Given the description of an element on the screen output the (x, y) to click on. 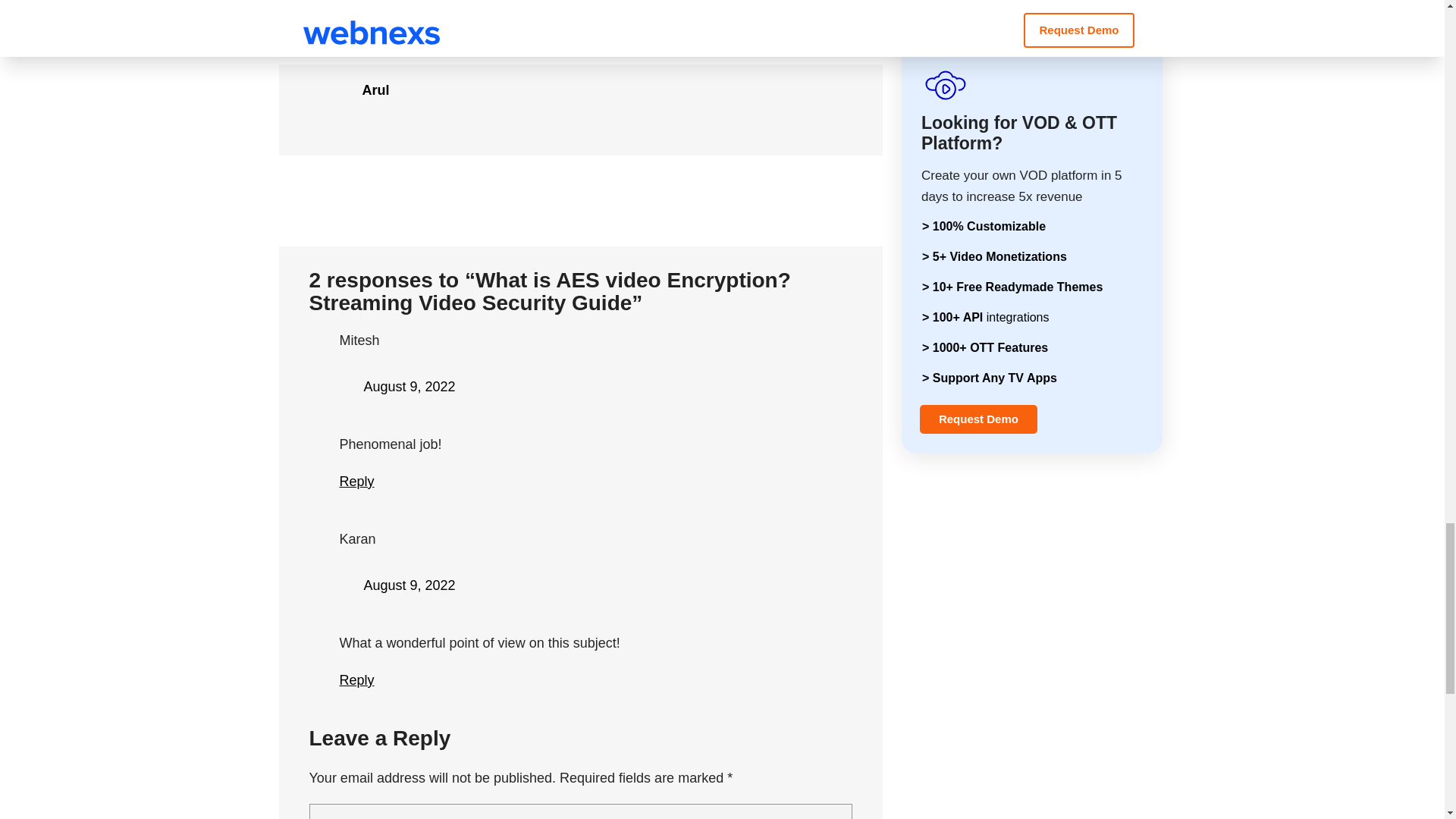
Reply (356, 481)
Request A Demo (577, 21)
August 9, 2022 (409, 386)
August 9, 2022 (409, 585)
Reply (356, 679)
